Given the description of an element on the screen output the (x, y) to click on. 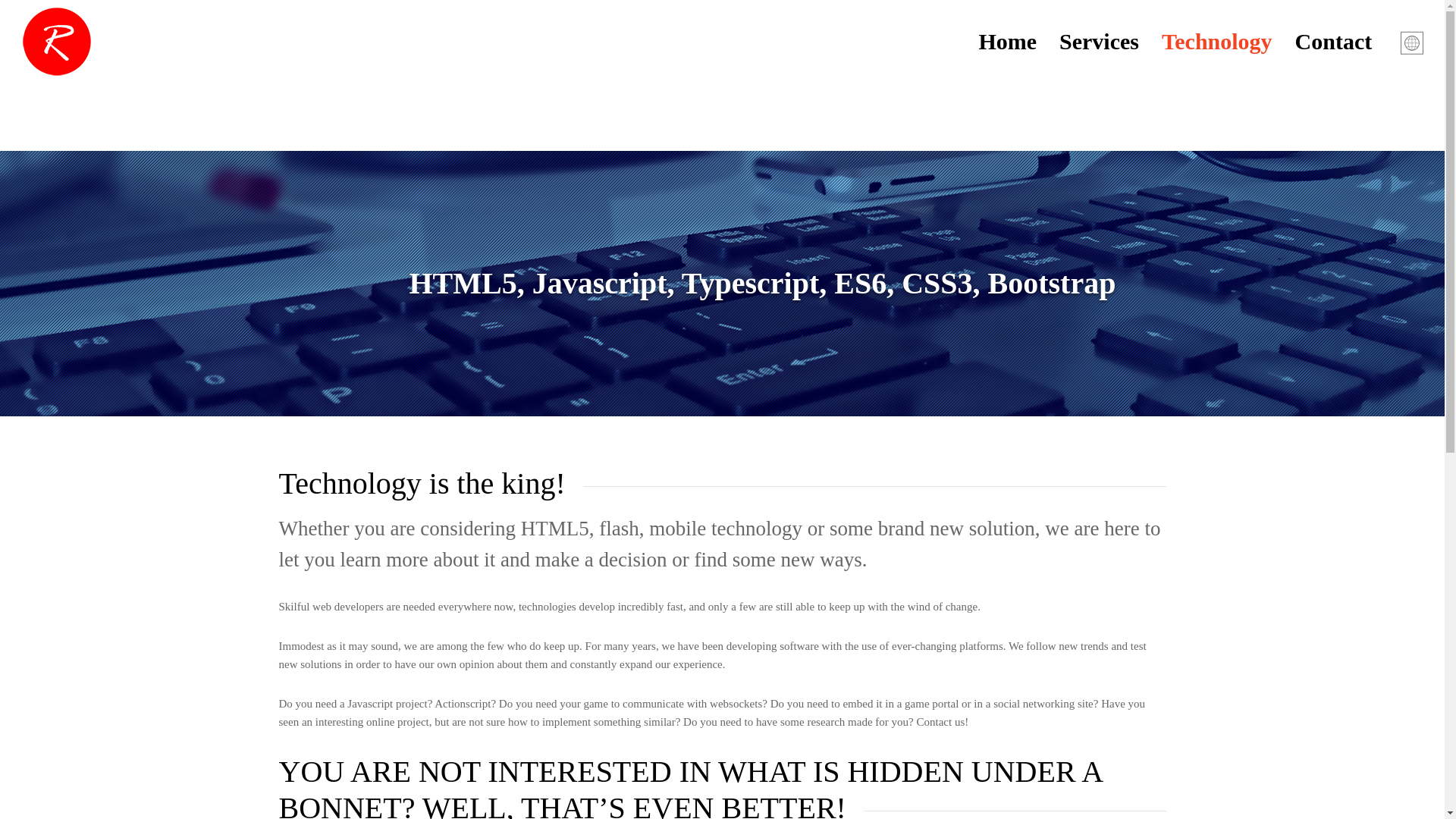
Technology (1228, 41)
Services (1110, 41)
Contact (1344, 41)
Home (1018, 41)
